Given the description of an element on the screen output the (x, y) to click on. 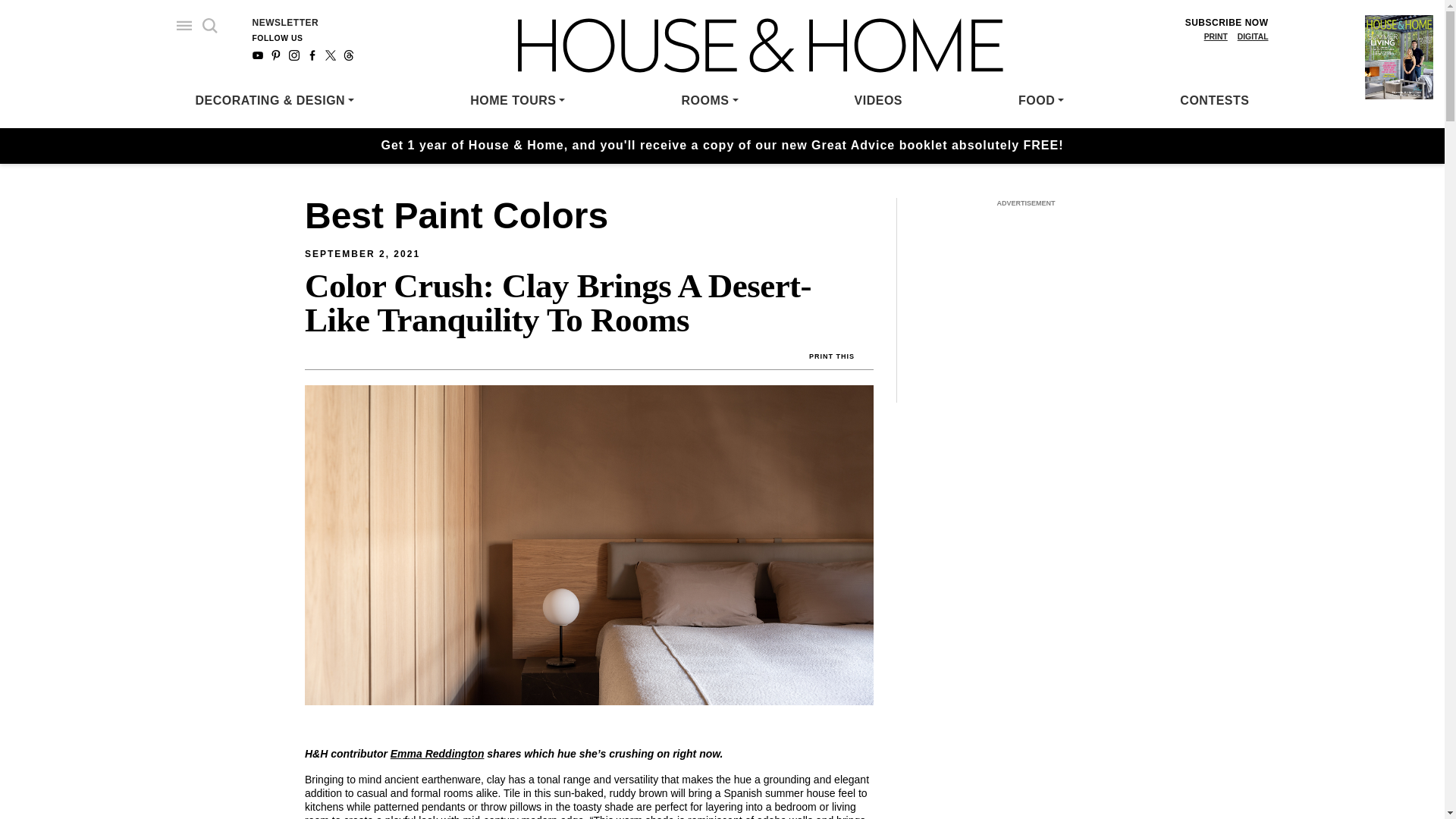
DIGITAL (1252, 36)
ROOMS (709, 100)
PRINT (1215, 36)
3rd party ad content (1026, 307)
HOME TOURS (517, 100)
NEWSLETTER (284, 22)
